Given the description of an element on the screen output the (x, y) to click on. 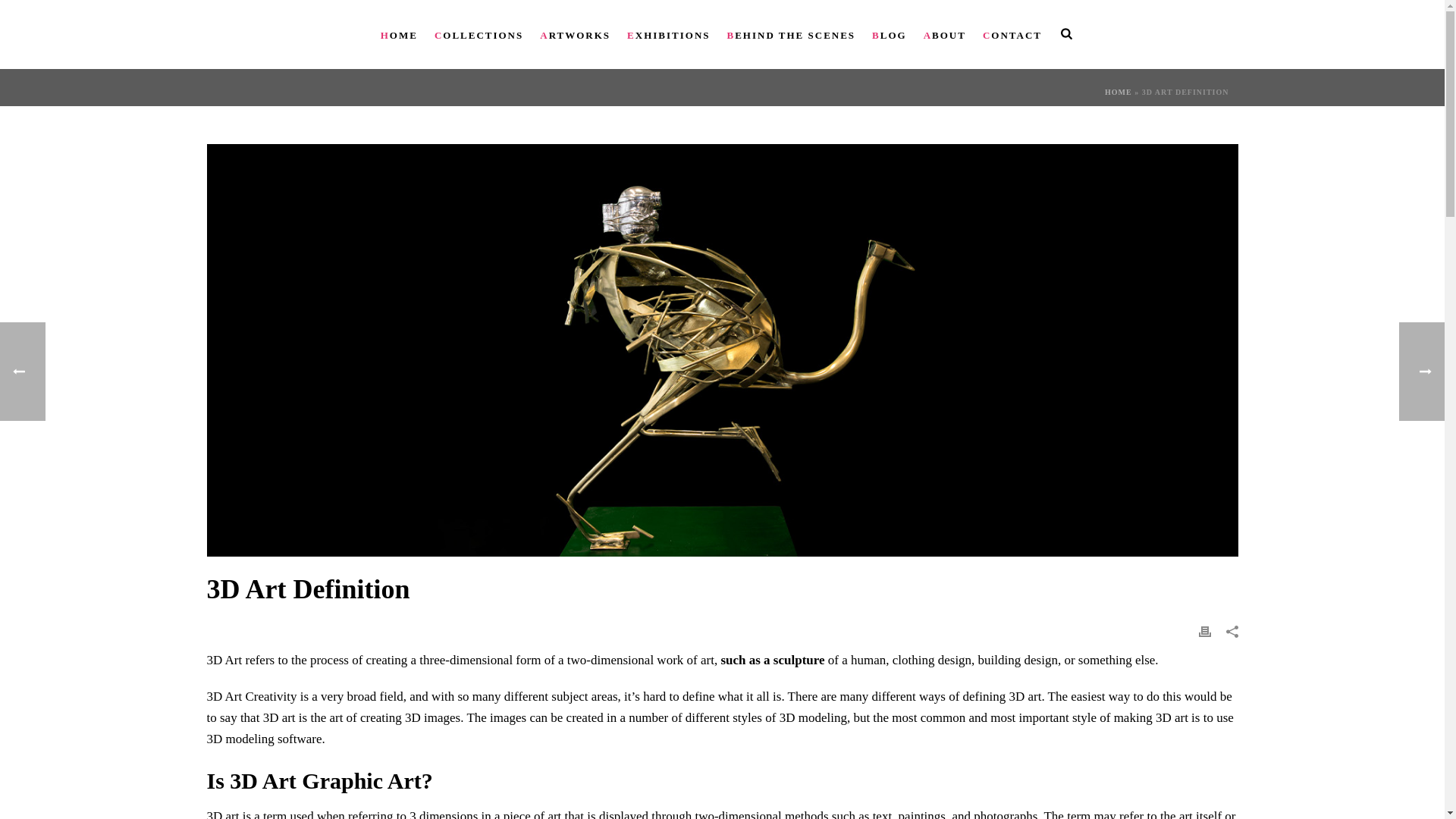
COLLECTIONS (478, 33)
HOME (1118, 91)
CONTACT (1011, 33)
ARTWORKS (574, 33)
BEHIND THE SCENES (791, 33)
COLLECTIONS (478, 33)
ARTWORKS (574, 33)
EXHIBITIONS (667, 33)
